Given the description of an element on the screen output the (x, y) to click on. 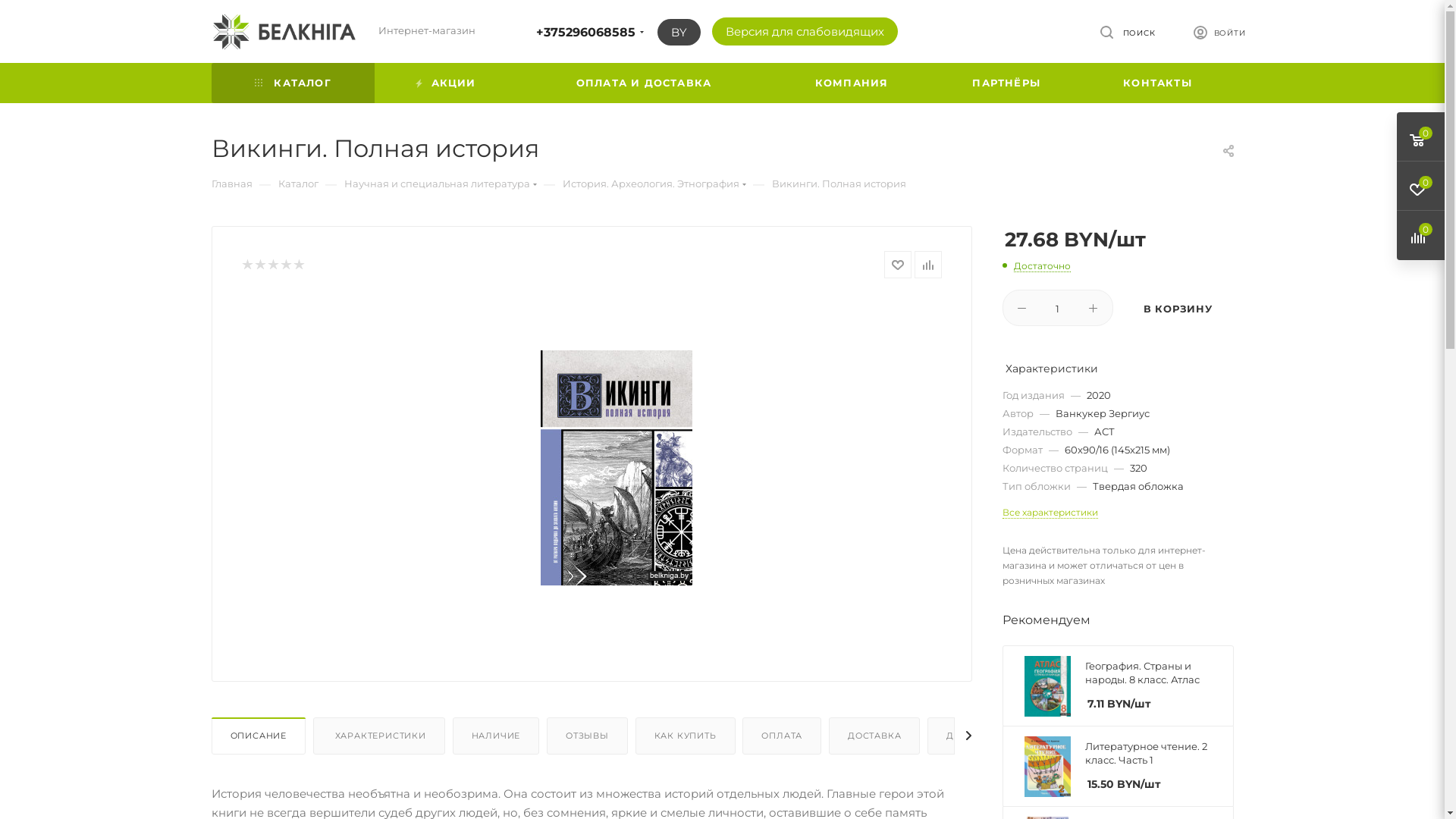
+375296068585 Element type: text (584, 32)
BY Element type: text (677, 31)
